Given the description of an element on the screen output the (x, y) to click on. 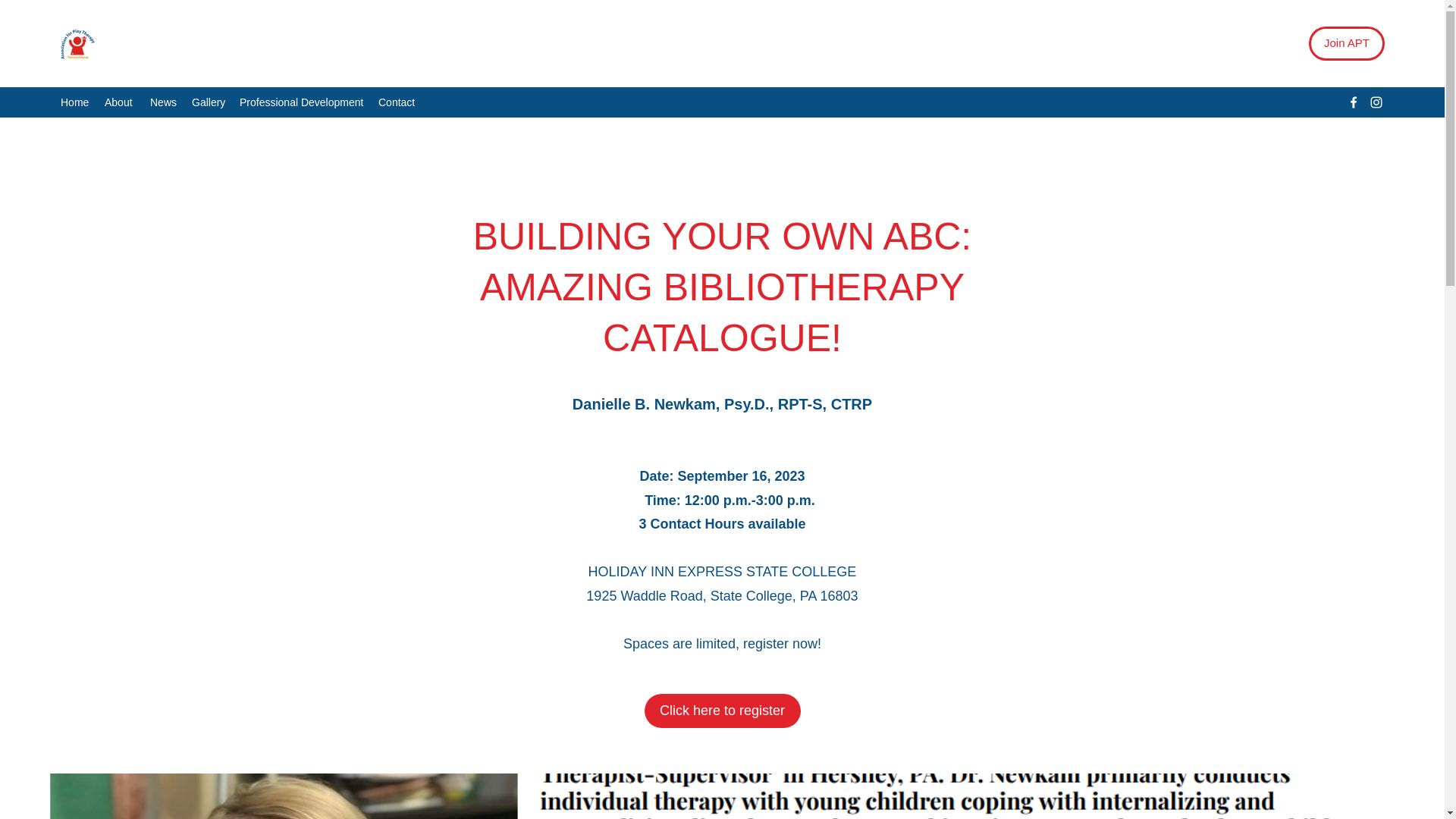
Home (74, 101)
Join APT (1346, 43)
Contact (397, 101)
Gallery (207, 101)
News (163, 101)
About (119, 101)
Click here to register (722, 710)
